Given the description of an element on the screen output the (x, y) to click on. 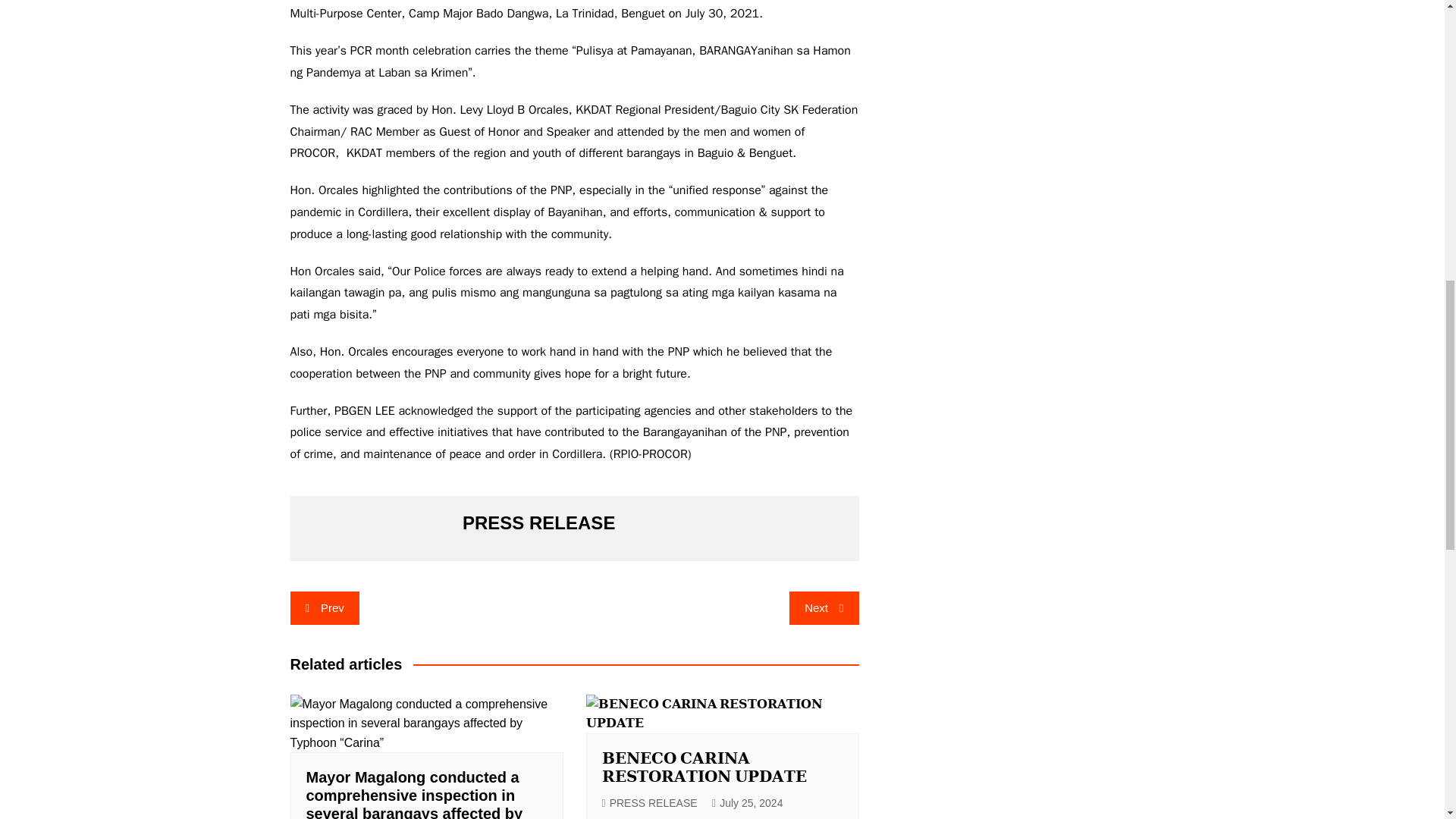
Prev (323, 607)
